Given the description of an element on the screen output the (x, y) to click on. 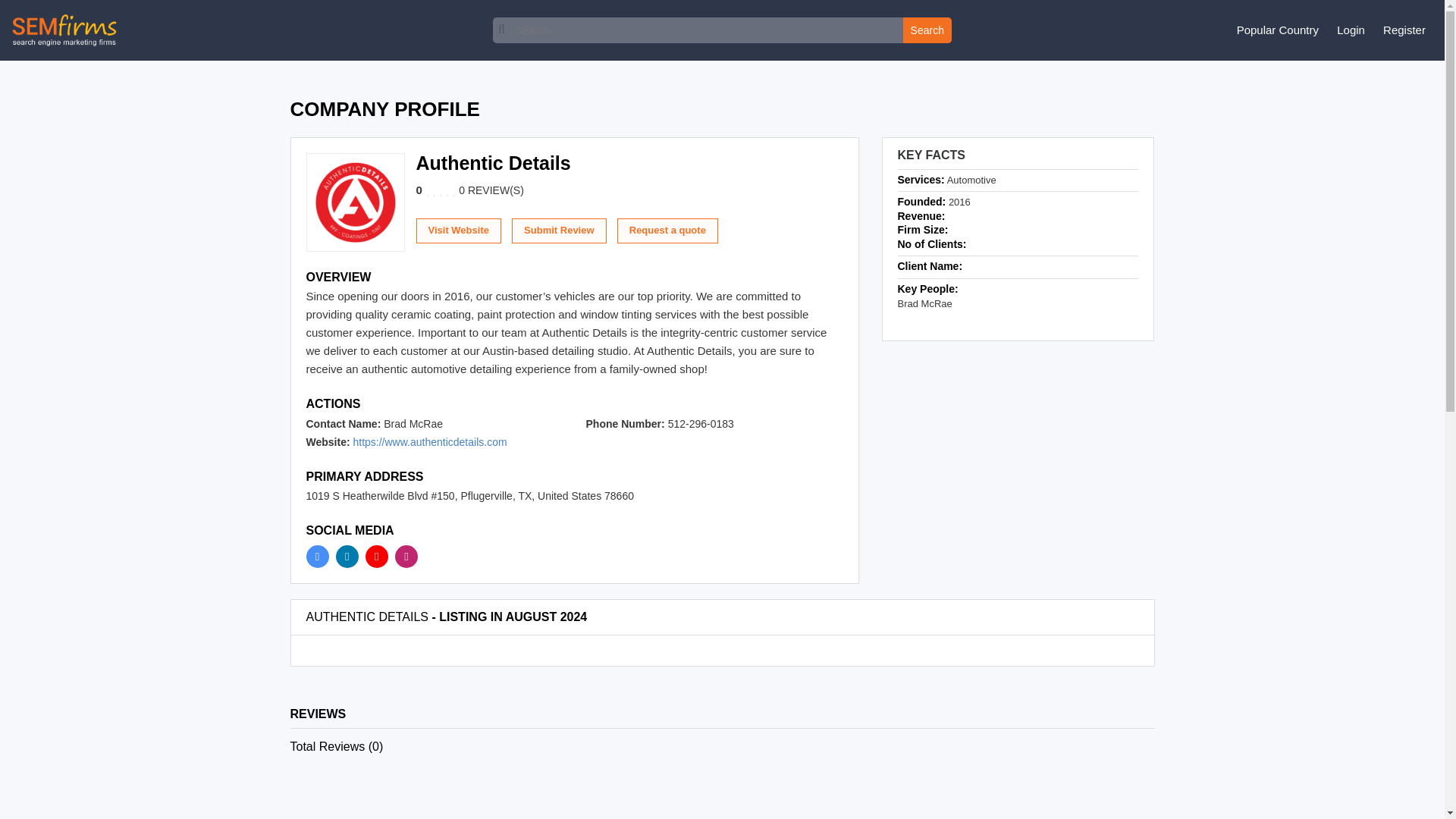
Login (1362, 72)
Visit Website (168, 248)
Request a quote (377, 248)
Popular Country (1289, 72)
Submit Review (268, 248)
